Given the description of an element on the screen output the (x, y) to click on. 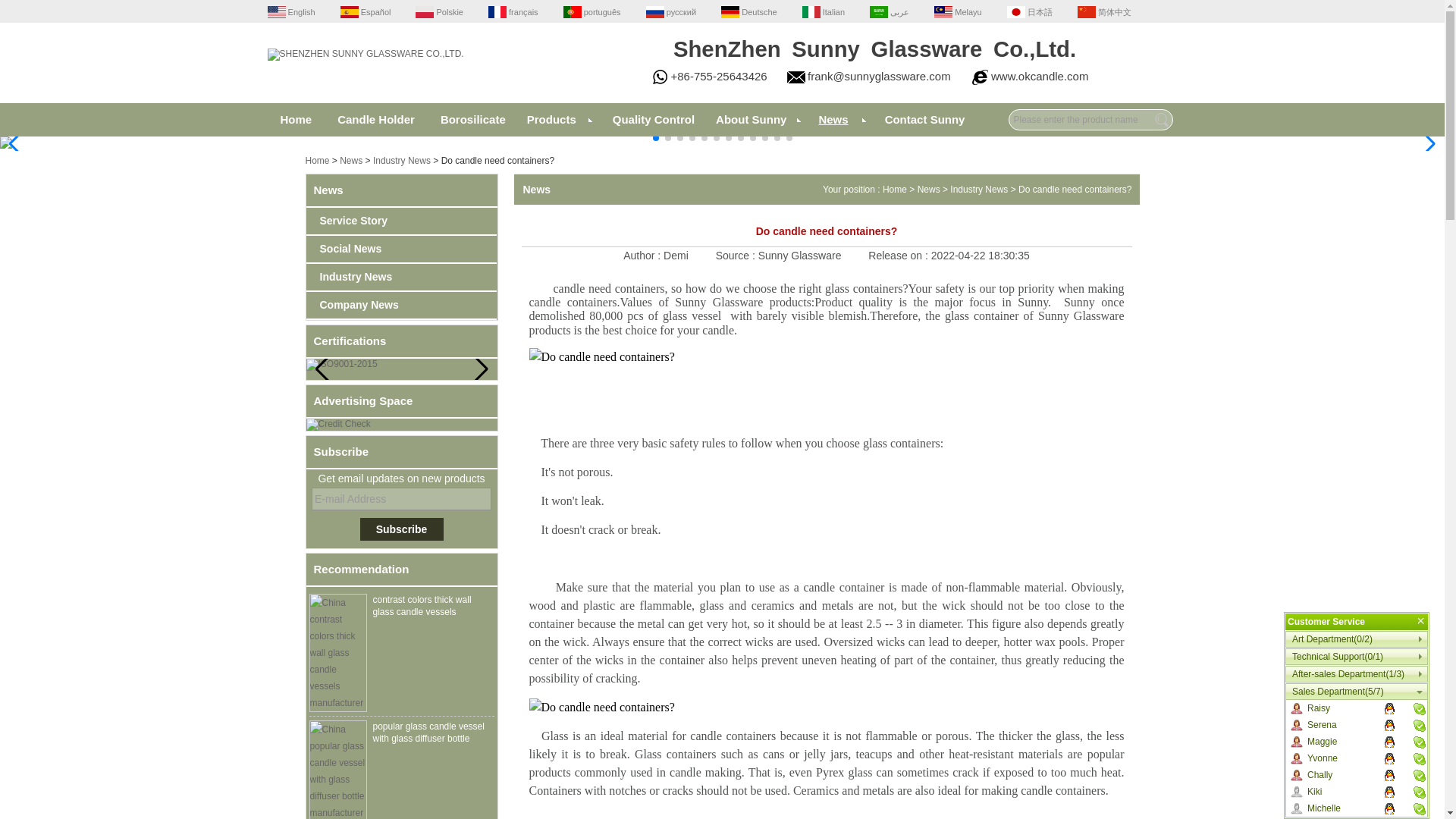
Subscribe (400, 528)
Please enter the product name (1091, 119)
Credit Check (338, 424)
www.okcandle.com (1039, 75)
Deutsche (748, 10)
China Company News manufacturer (400, 304)
Products (558, 119)
China Industry News manufacturer (400, 276)
China Social News manufacturer (400, 248)
